Given the description of an element on the screen output the (x, y) to click on. 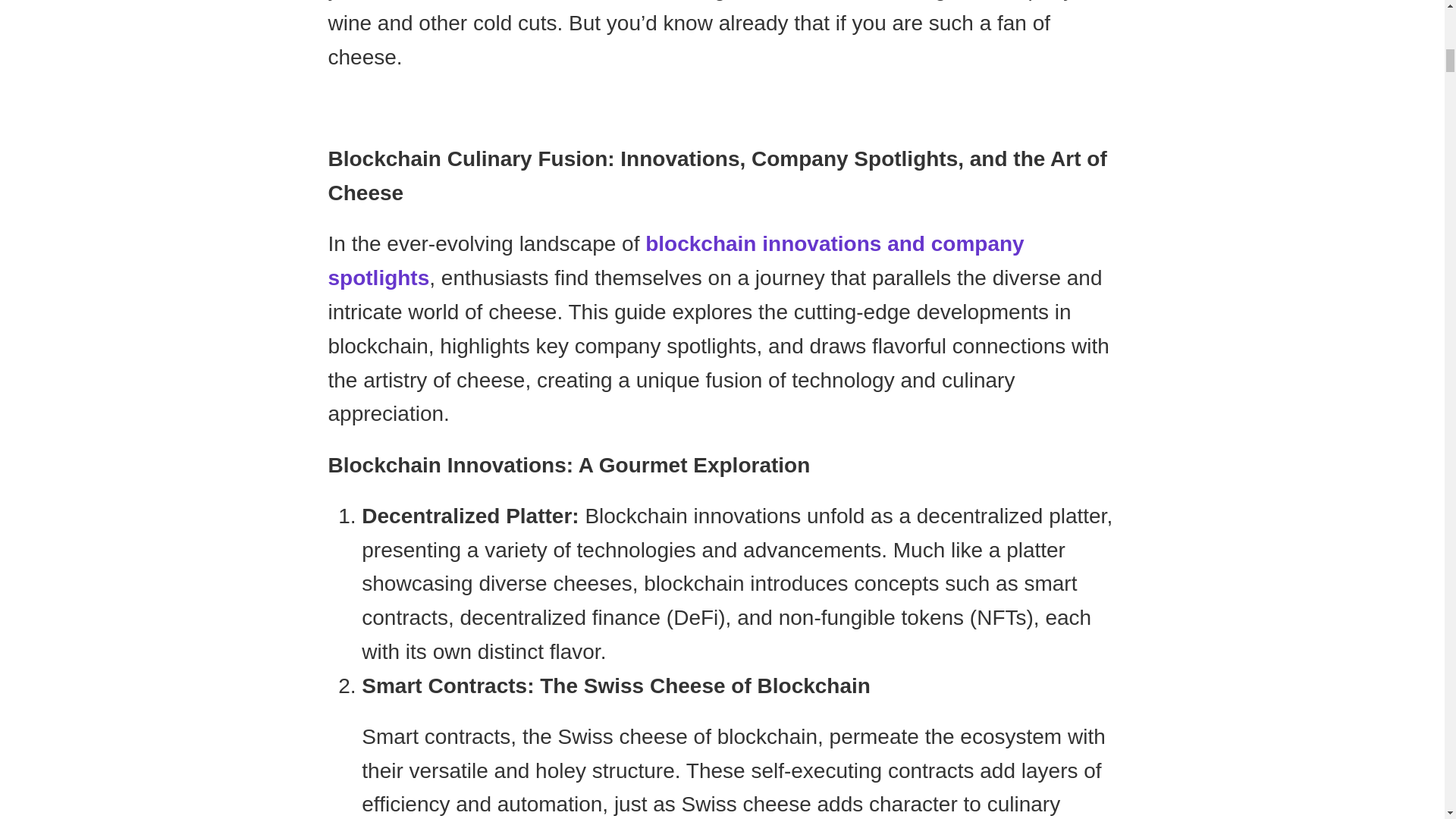
blockchain innovations and company spotlights (675, 260)
